Given the description of an element on the screen output the (x, y) to click on. 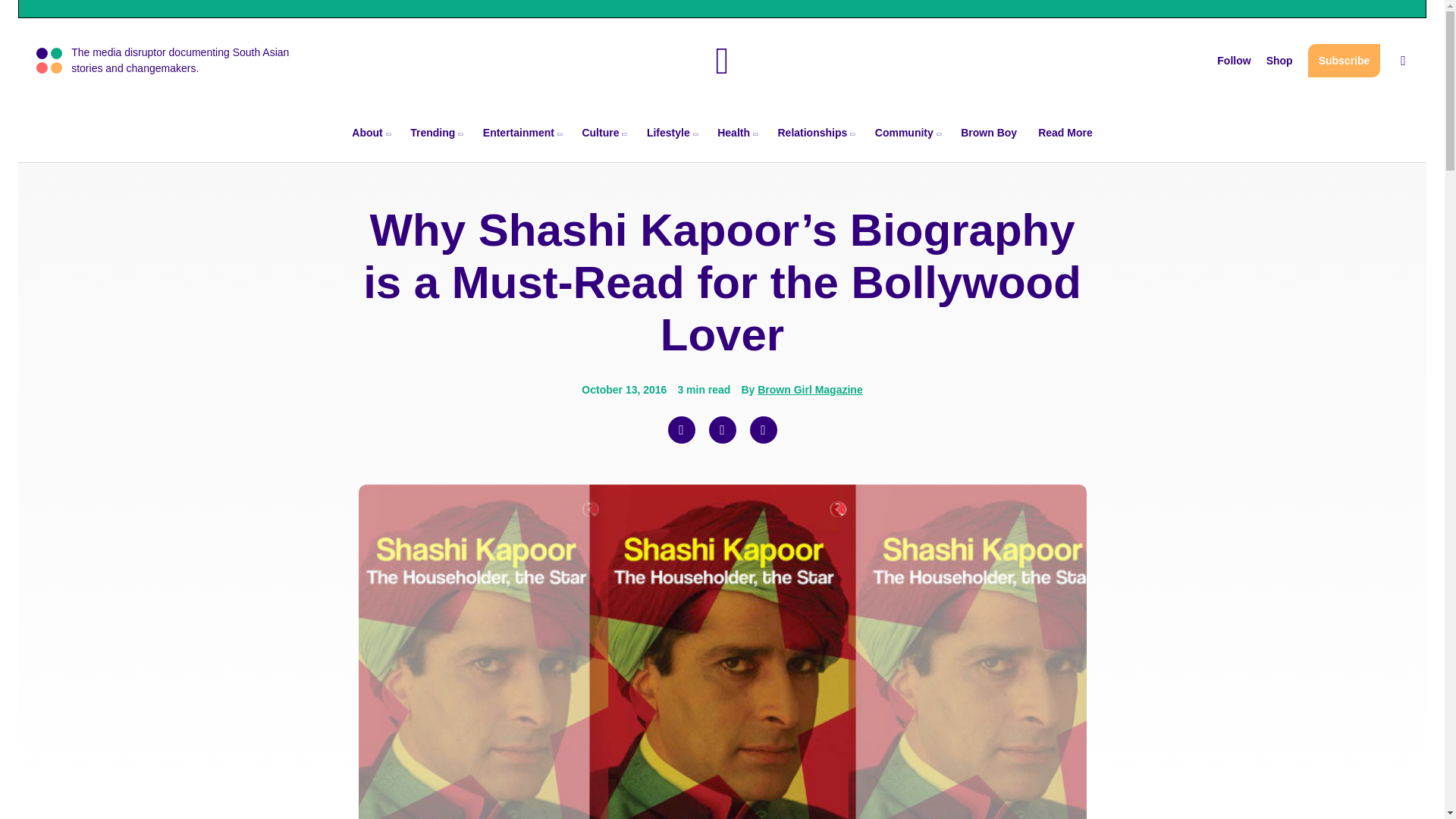
Share on Twitter (721, 429)
Share on FaceBook (680, 429)
Share via Email (762, 429)
